Given the description of an element on the screen output the (x, y) to click on. 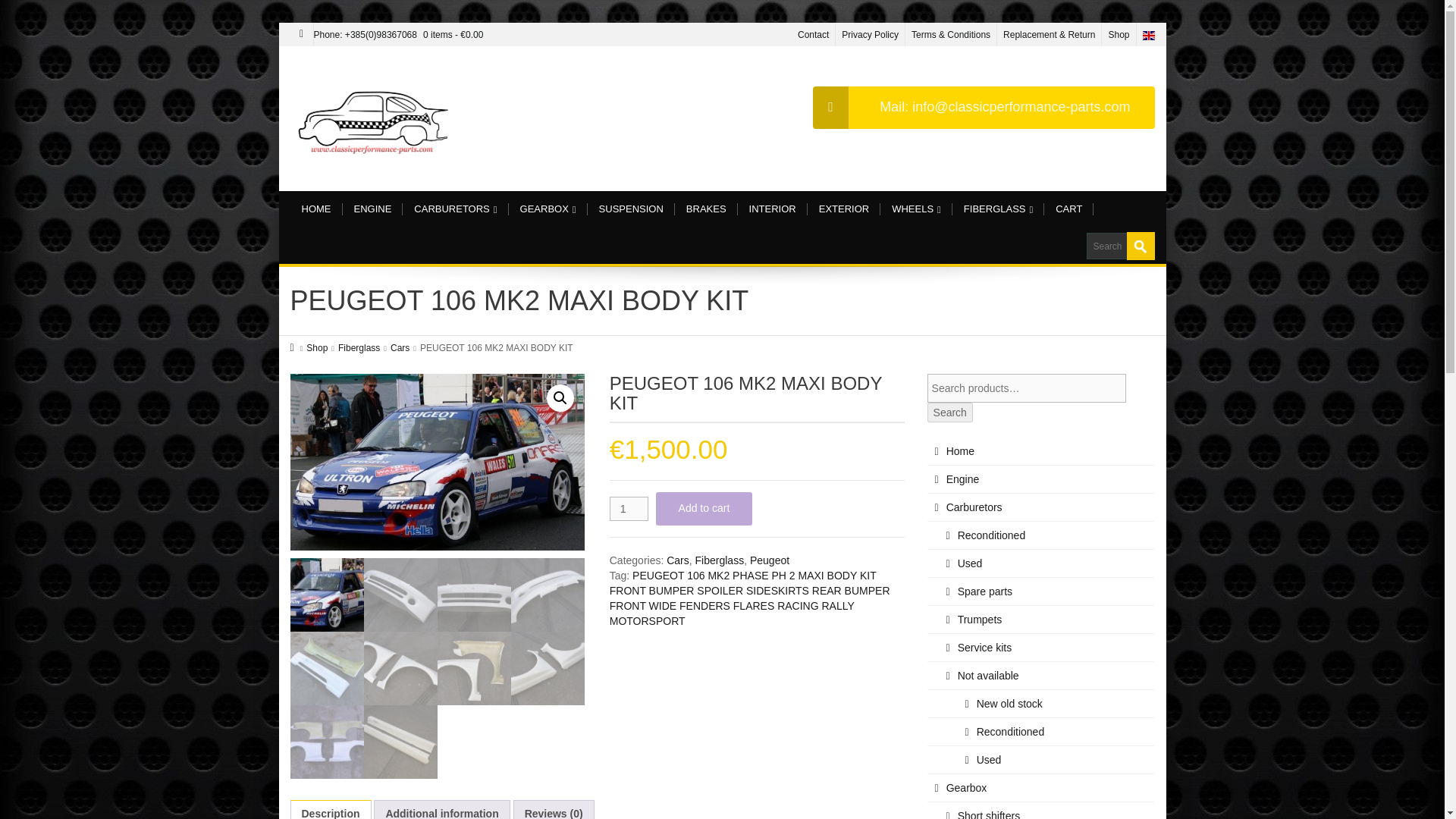
Contact (812, 34)
Privacy Policy (869, 34)
1 (628, 508)
Shop (1118, 34)
Classic Performance Parts (375, 118)
English (1147, 34)
View your shopping cart (453, 34)
